Given the description of an element on the screen output the (x, y) to click on. 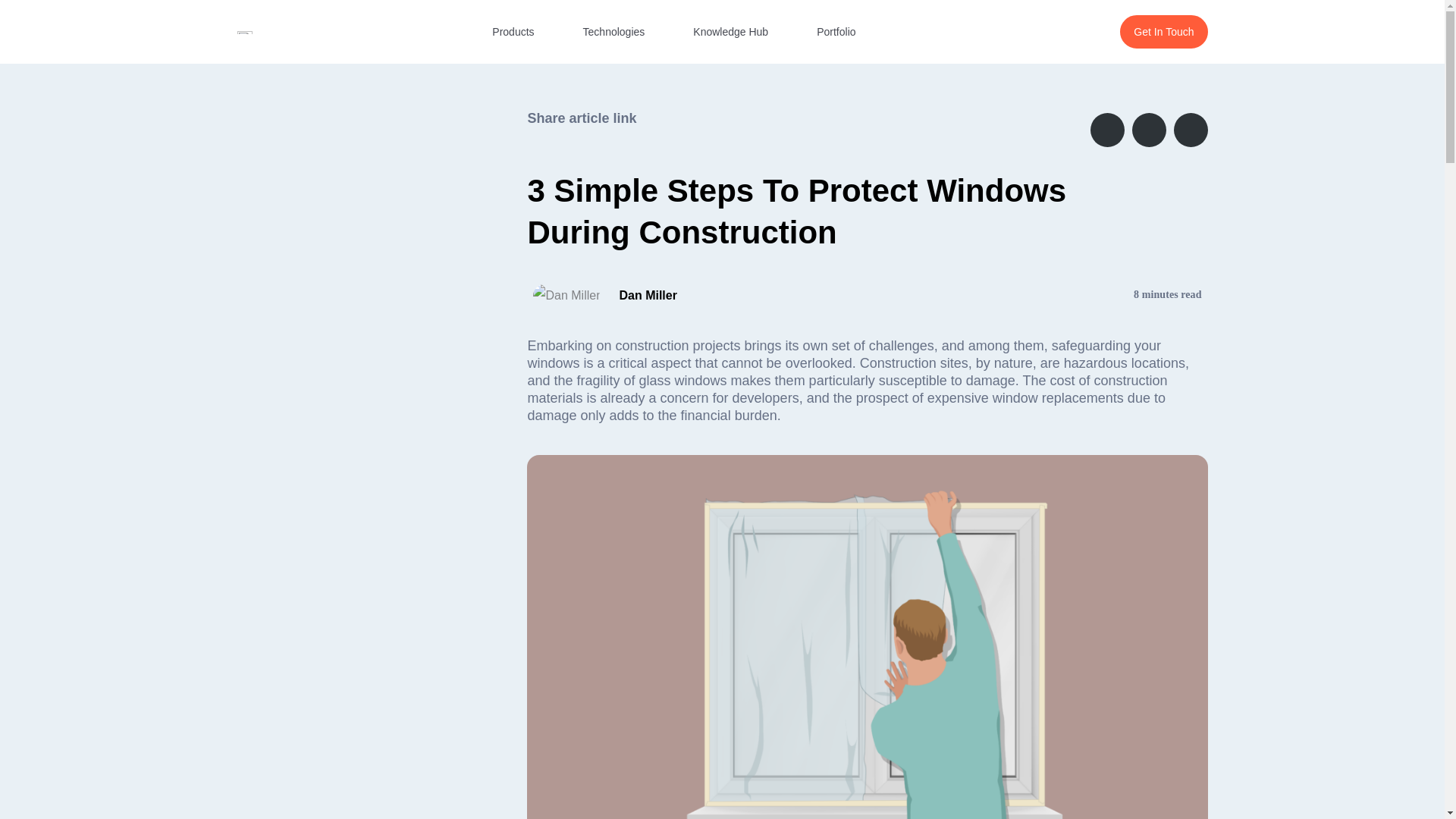
Technologies (614, 32)
Get In Touch (1163, 31)
Knowledge Hub (730, 32)
Portfolio (836, 32)
Products (513, 32)
